Given the description of an element on the screen output the (x, y) to click on. 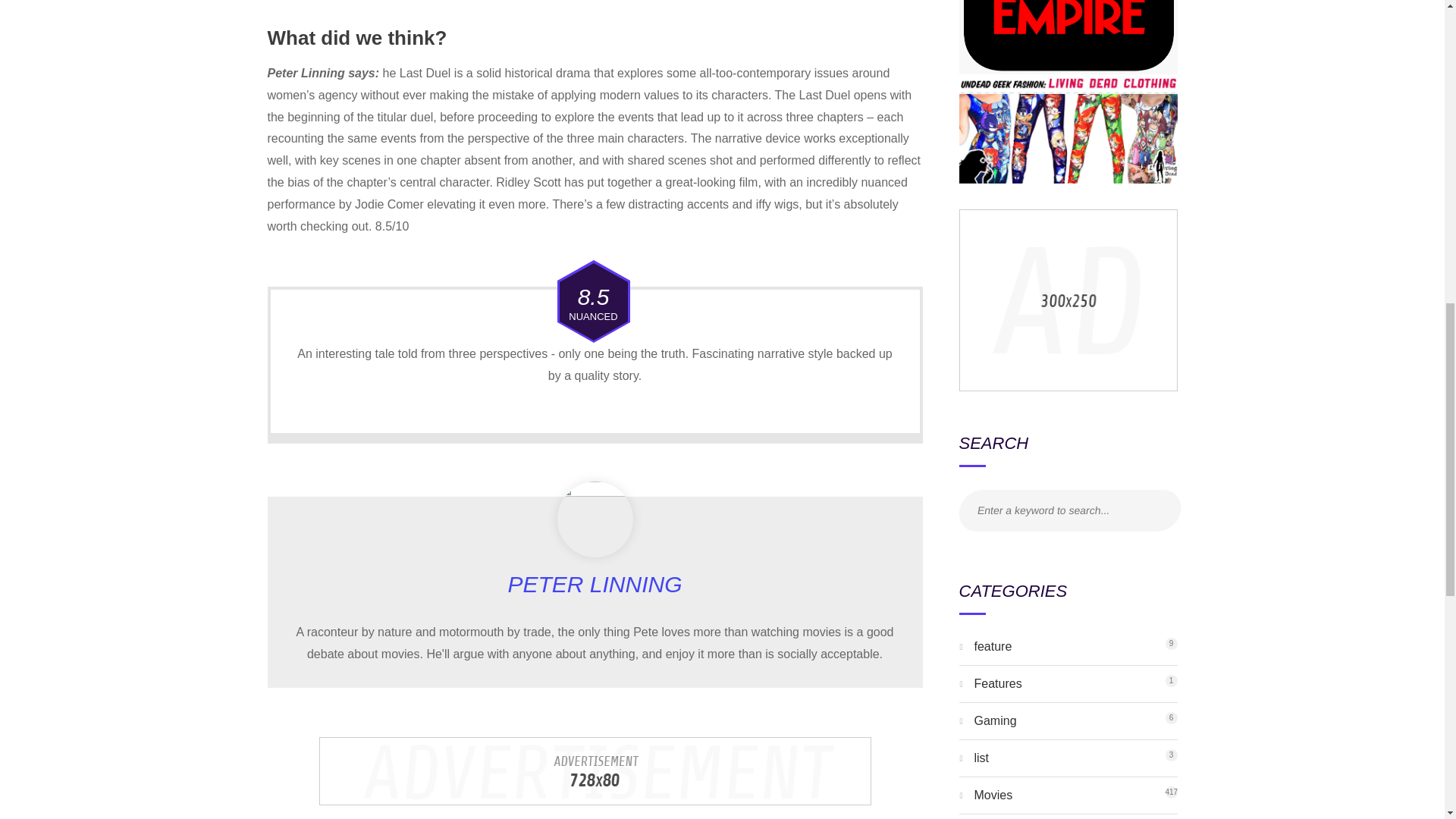
Posts by Peter Linning (992, 645)
PETER LINNING (593, 584)
